Given the description of an element on the screen output the (x, y) to click on. 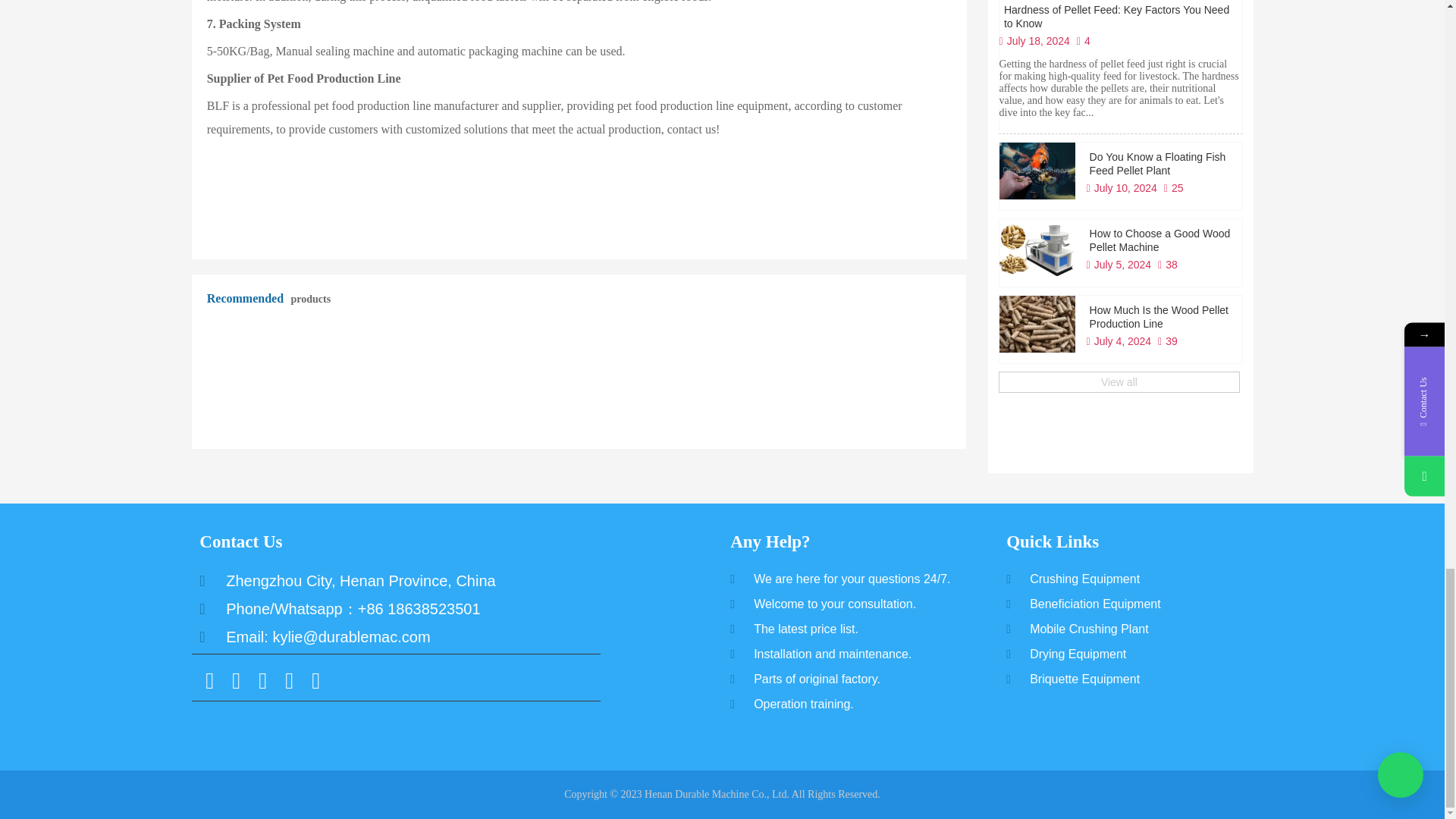
Zhengzhou City, Henan Province, China (408, 580)
